Given the description of an element on the screen output the (x, y) to click on. 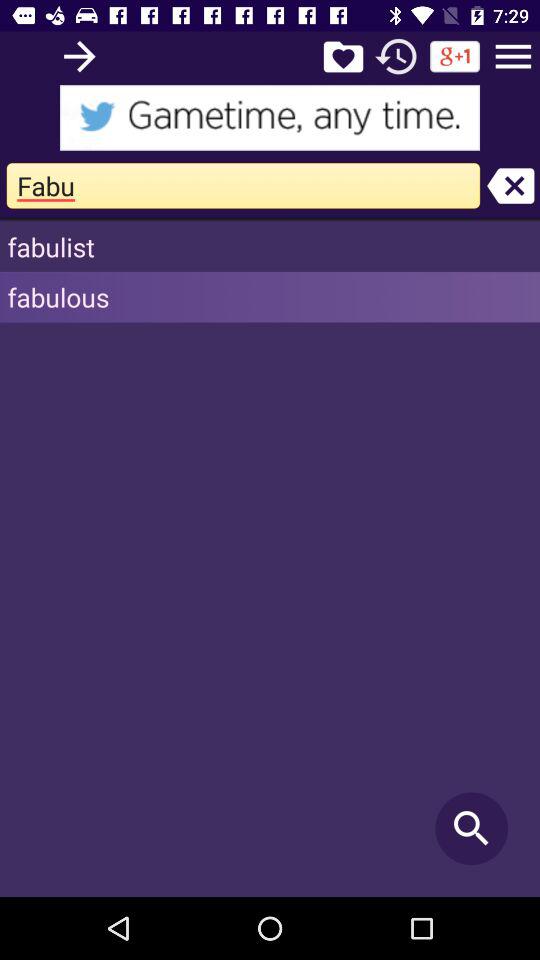
cancel search (510, 185)
